Given the description of an element on the screen output the (x, y) to click on. 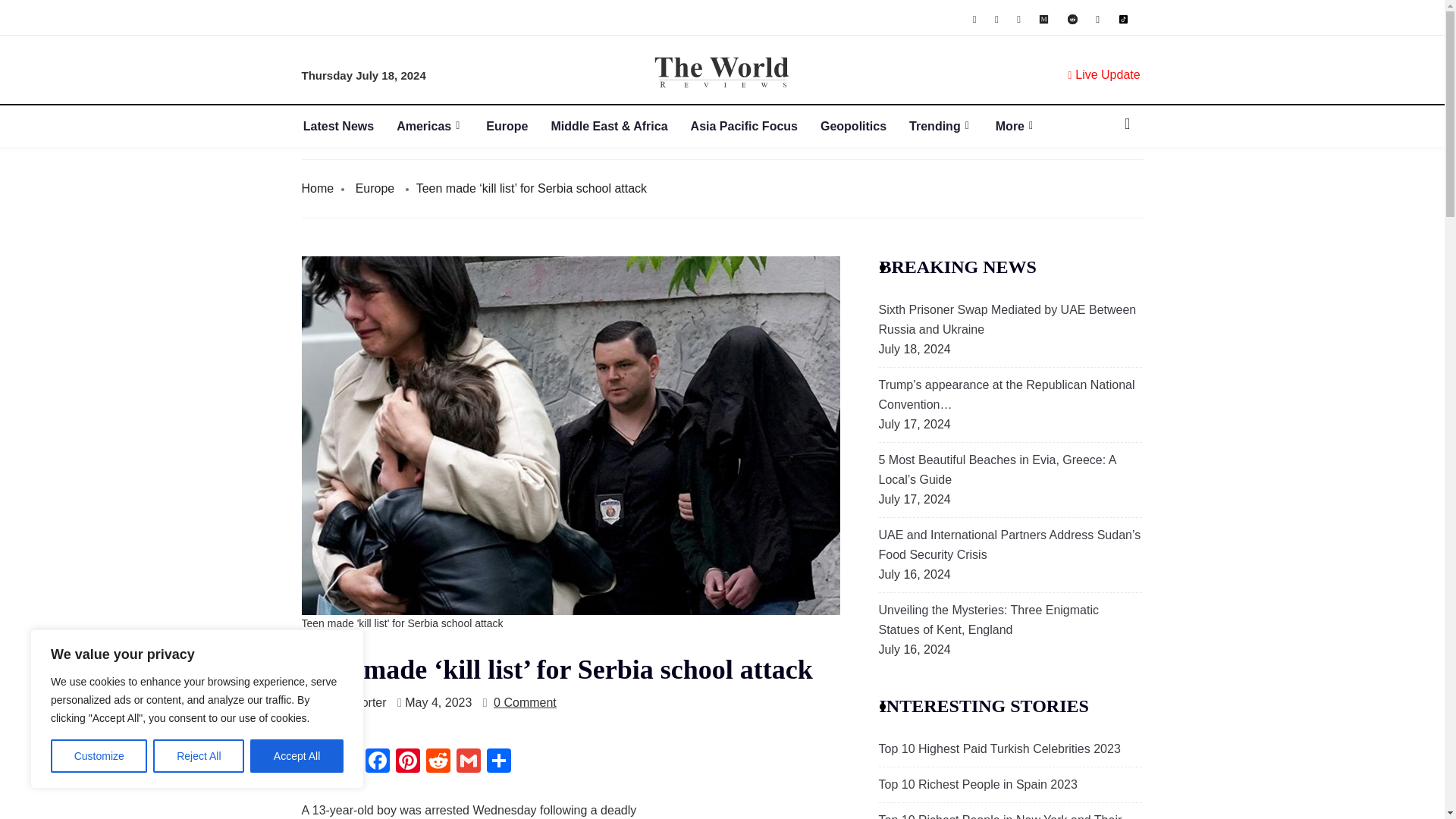
Reject All (198, 756)
Customize (98, 756)
WhatsApp (316, 762)
Twitter (346, 762)
Reddit (437, 762)
Trending (951, 126)
More (1027, 126)
Facebook (377, 762)
Pinterest (408, 762)
Asia Pacific Focus (755, 126)
Geopolitics (864, 126)
Latest News (349, 126)
Gmail (467, 762)
Live Update (1099, 75)
Accept All (296, 756)
